Given the description of an element on the screen output the (x, y) to click on. 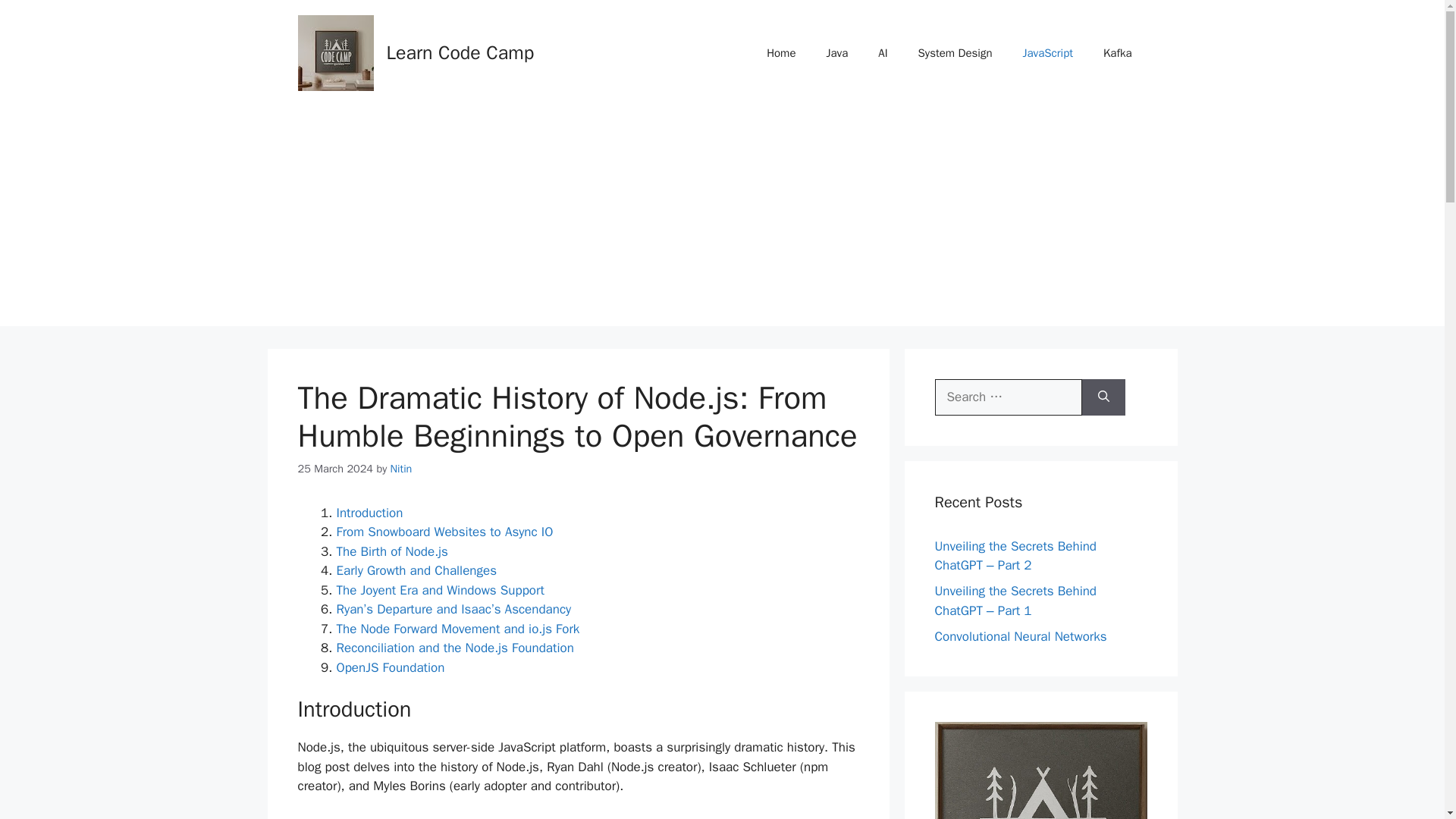
The Birth of Node.js (392, 551)
Kafka (1117, 53)
Introduction (369, 512)
The Node Forward Movement and io.js Fork (457, 628)
System Design (954, 53)
Java (836, 53)
The Joyent Era and Windows Support (440, 590)
JavaScript (1048, 53)
OpenJS Foundation (390, 667)
Search for: (1007, 397)
Early Growth and Challenges (416, 570)
Nitin (401, 468)
Reconciliation and the Node.js Foundation (454, 647)
View all posts by Nitin (401, 468)
